Given the description of an element on the screen output the (x, y) to click on. 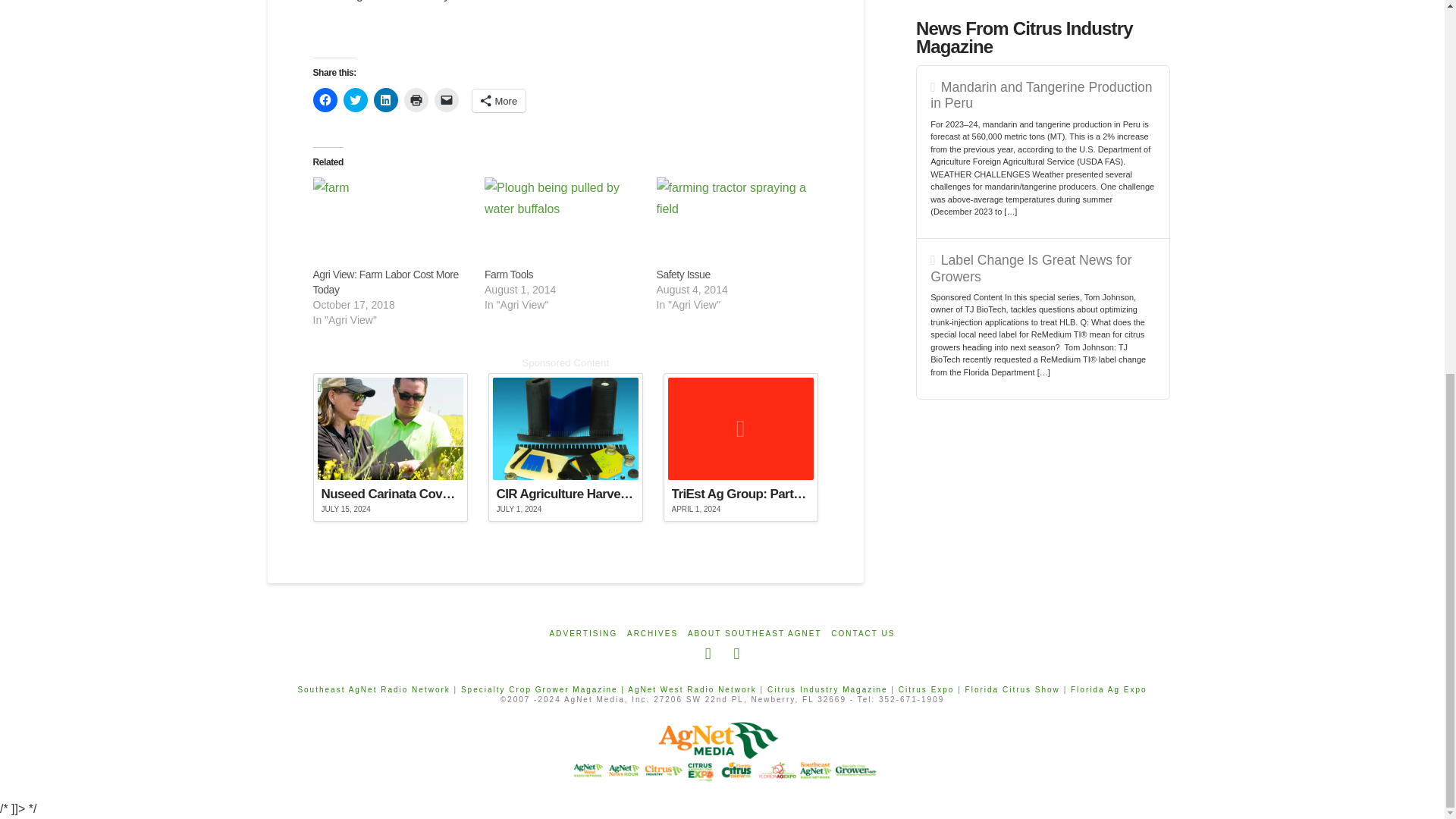
Farm Tools (563, 221)
Agri View: Farm Labor Cost More Today (385, 281)
Click to email a link to a friend (445, 99)
Click to share on Facebook (324, 99)
Agri View: Farm Labor Cost More Today (390, 221)
Click to print (415, 99)
Click to share on LinkedIn (384, 99)
Click to share on Twitter (354, 99)
